Given the description of an element on the screen output the (x, y) to click on. 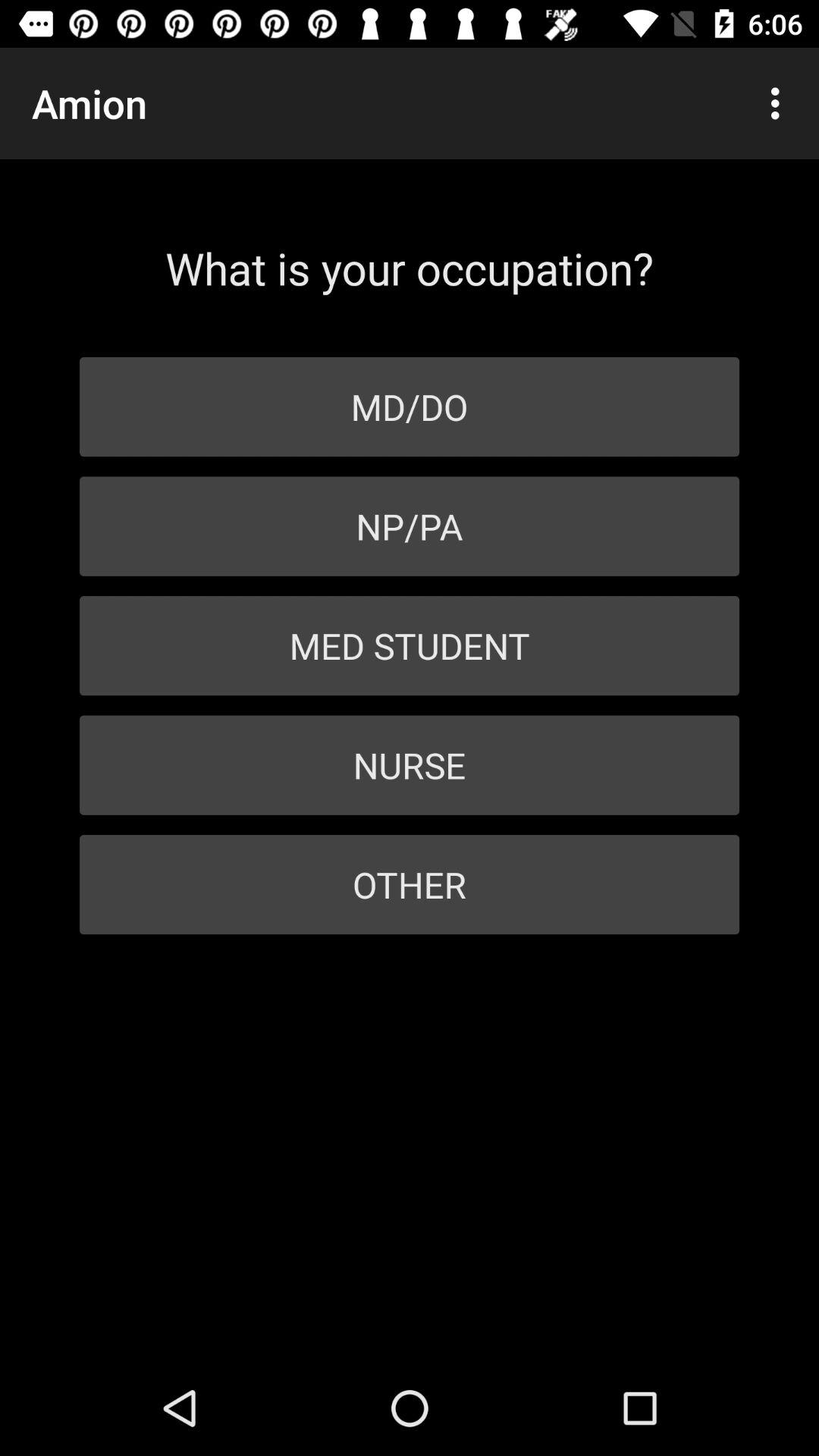
click item below nurse (409, 884)
